Given the description of an element on the screen output the (x, y) to click on. 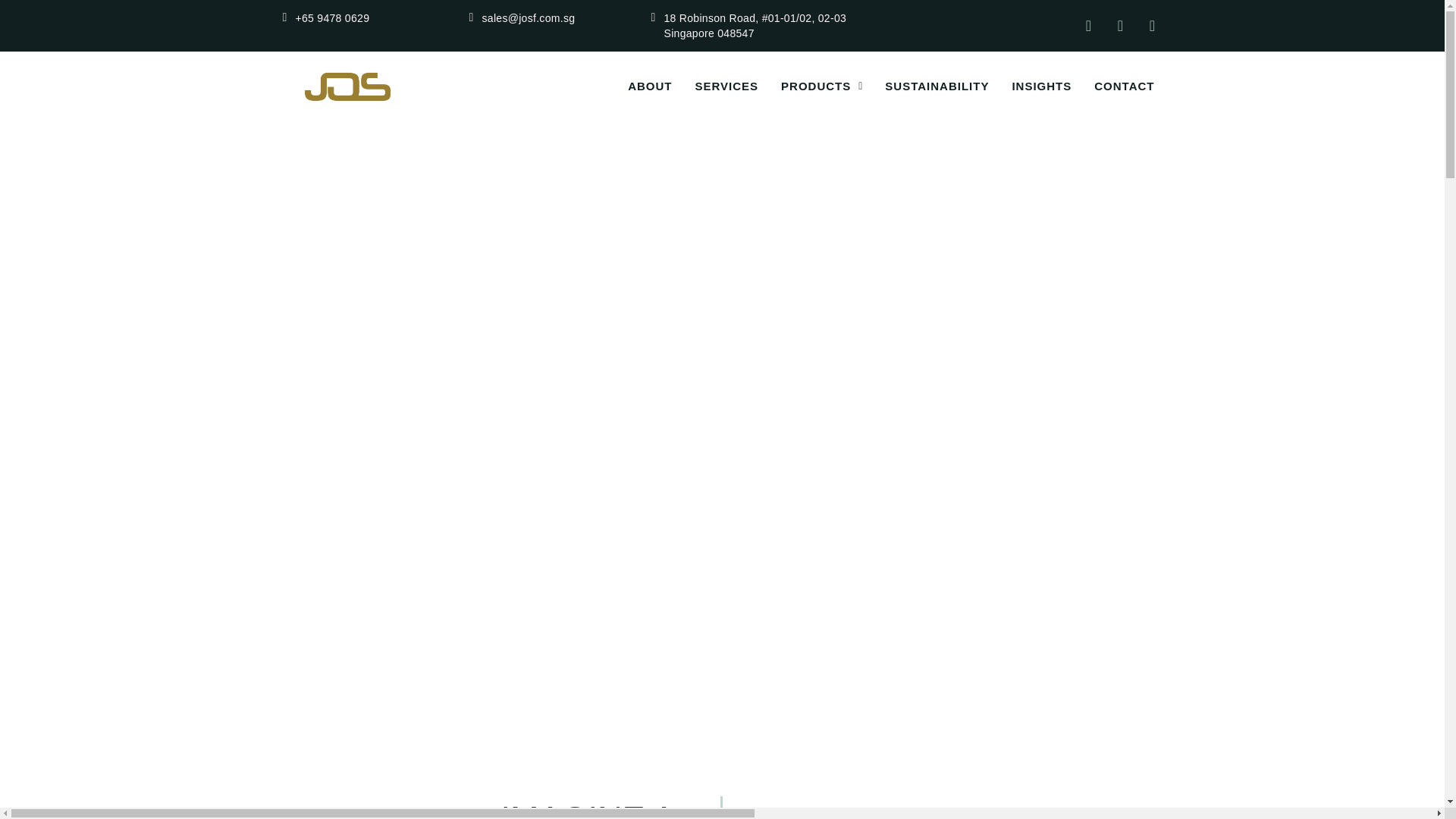
SERVICES (714, 86)
ABOUT (638, 86)
INSIGHTS (1029, 86)
PRODUCTS (809, 86)
CONTACT (1112, 86)
SUSTAINABILITY (924, 86)
